Given the description of an element on the screen output the (x, y) to click on. 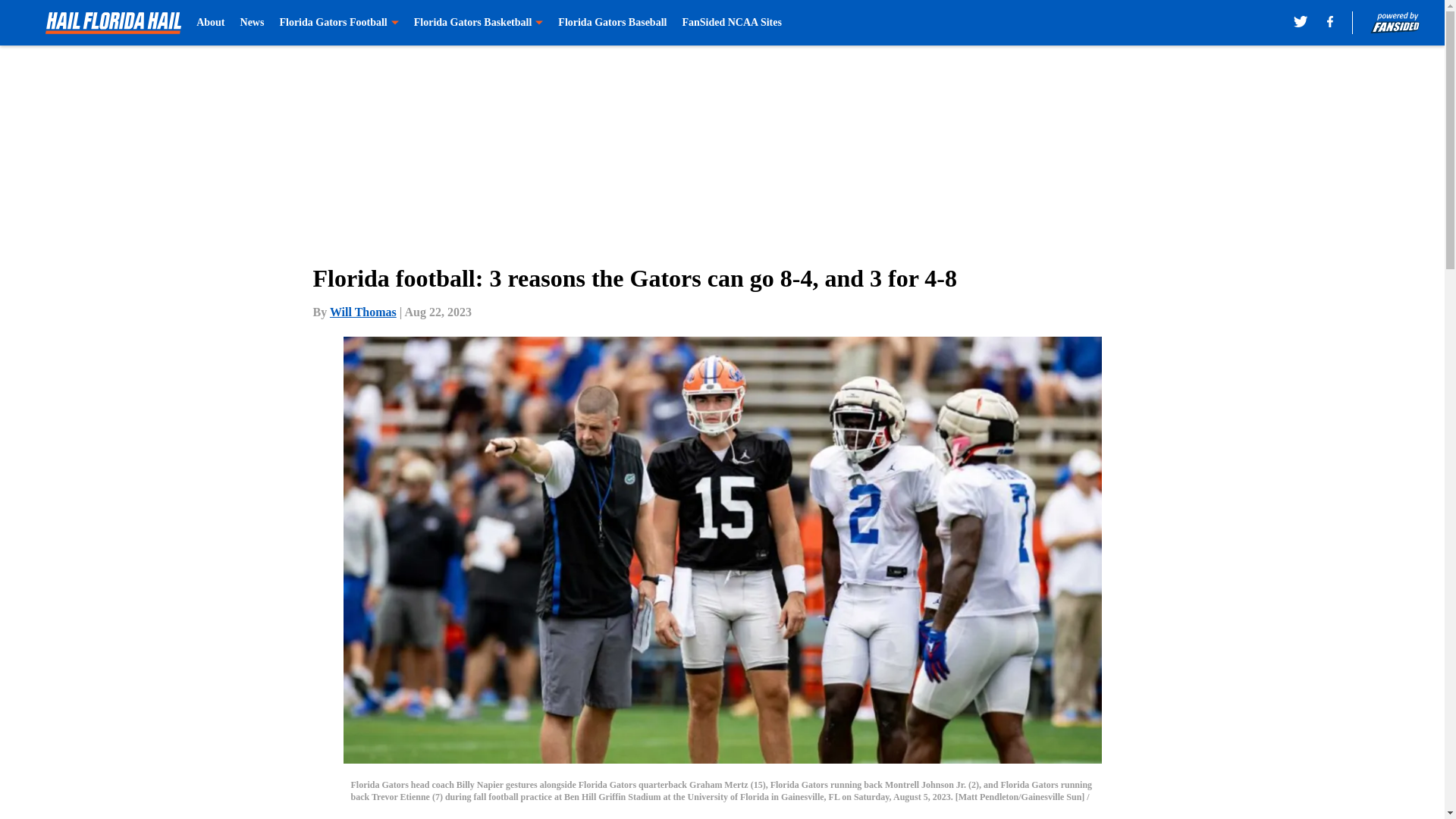
FanSided NCAA Sites (730, 22)
Will Thomas (363, 311)
News (252, 22)
Florida Gators Baseball (611, 22)
About (210, 22)
